Given the description of an element on the screen output the (x, y) to click on. 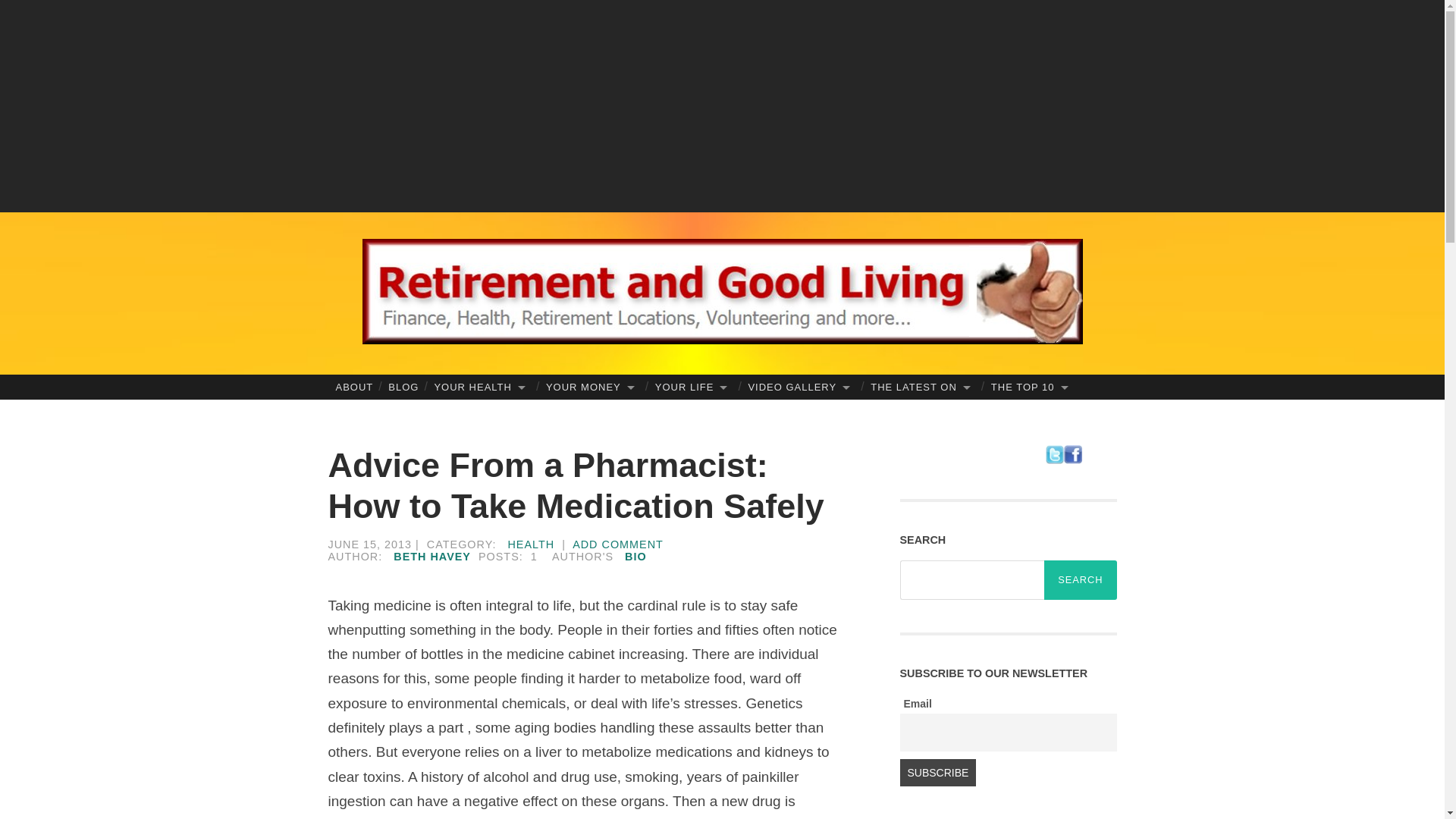
Posts by Beth Havey (431, 556)
ABOUT (353, 386)
Advice From a Pharmacist: How to Take Medication Safely (575, 485)
Search (1079, 579)
YOUR HEALTH (482, 386)
Follow us on Twitter (1053, 459)
Like us on Facebook (1071, 459)
BLOG (403, 386)
SUBSCRIBE (937, 772)
